Given the description of an element on the screen output the (x, y) to click on. 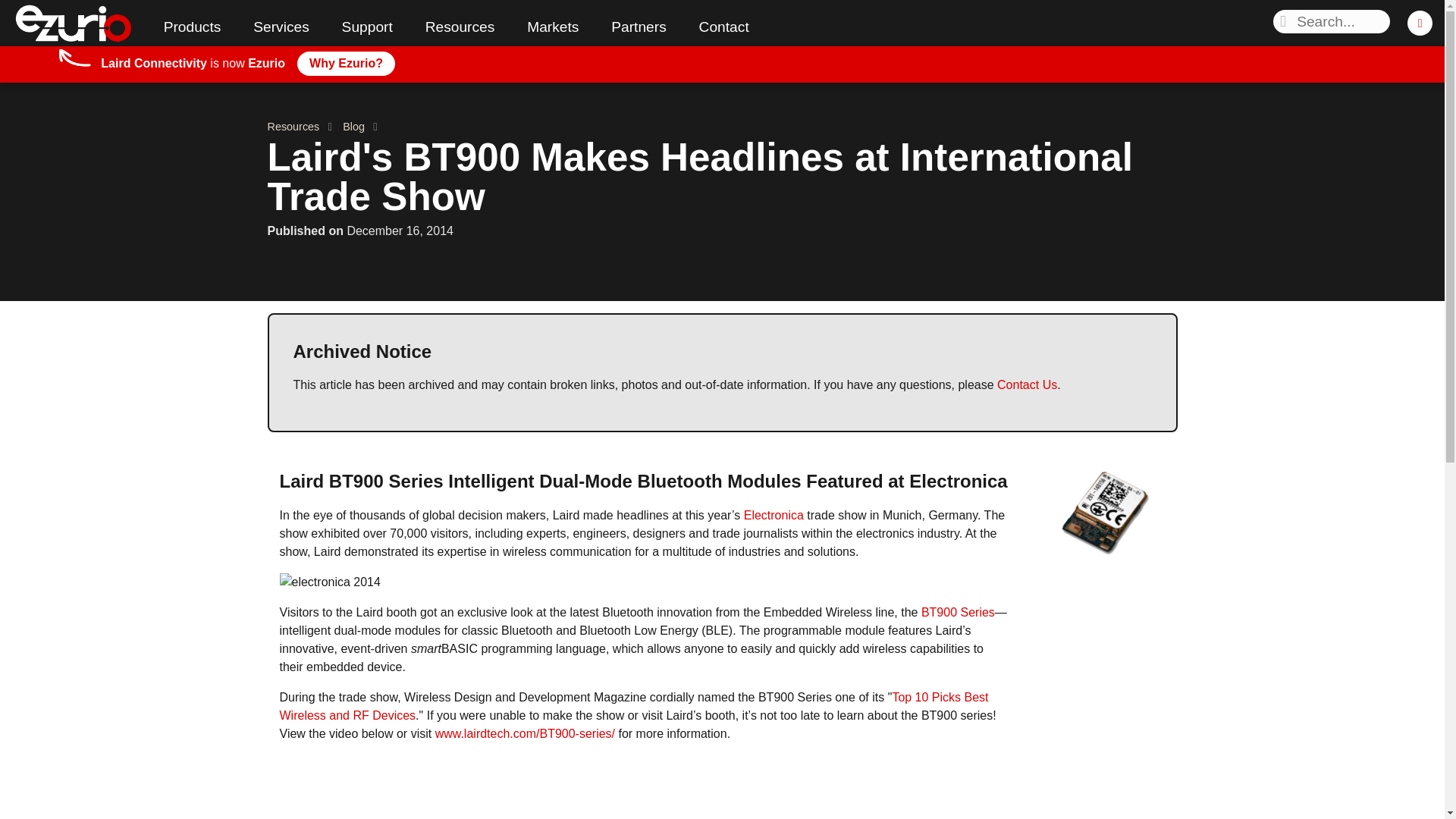
Top 10 Picks Best Wireless and RF Devices (633, 706)
Electronica (773, 514)
BT900 Series (957, 612)
Products (191, 25)
